Given the description of an element on the screen output the (x, y) to click on. 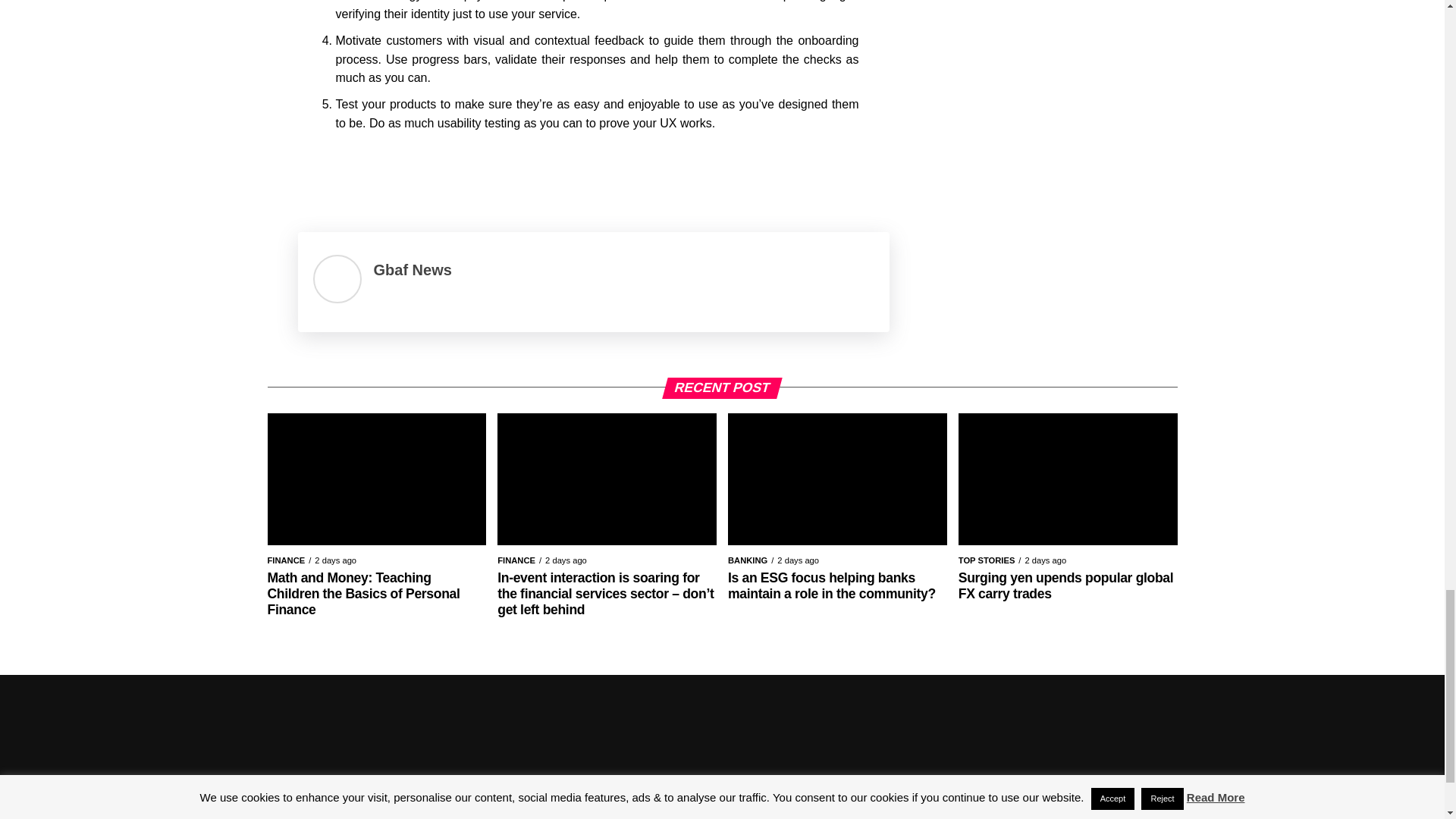
Share on Linkedin (393, 174)
Share on Twitter (354, 174)
Gbaf News (411, 269)
Share on Facebook (314, 174)
